Given the description of an element on the screen output the (x, y) to click on. 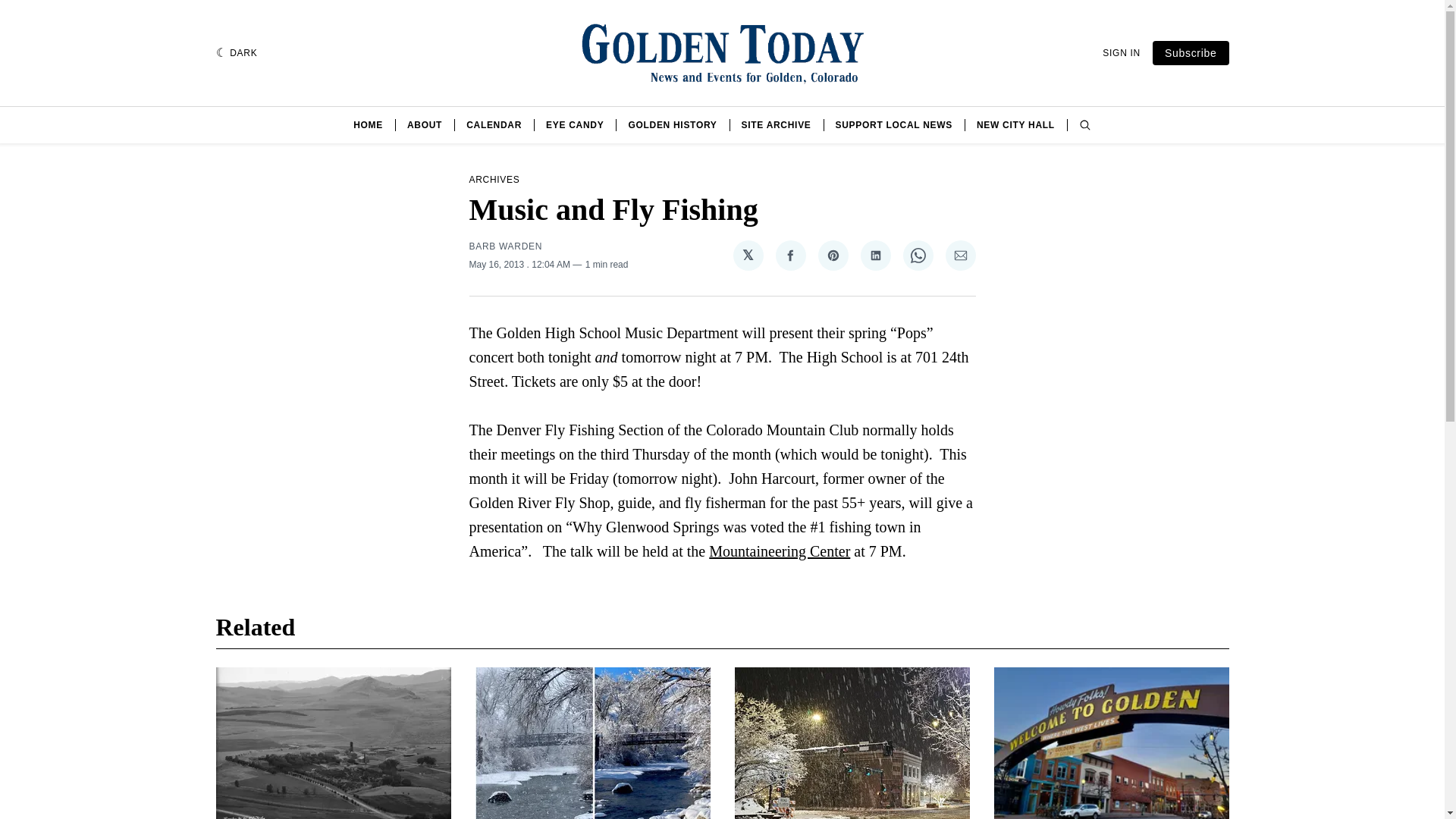
DARK (236, 52)
SITE ARCHIVE (775, 124)
SUPPORT LOCAL NEWS (893, 124)
GOLDEN HISTORY (671, 124)
SIGN IN (1121, 52)
HOME (367, 124)
CALENDAR (493, 124)
Share on Pinterest (831, 255)
NEW CITY HALL (1015, 124)
Share on Facebook (789, 255)
BARB WARDEN (504, 246)
EYE CANDY (575, 124)
Mountaineering Center (779, 550)
ABOUT (424, 124)
Share on LinkedIn (874, 255)
